Given the description of an element on the screen output the (x, y) to click on. 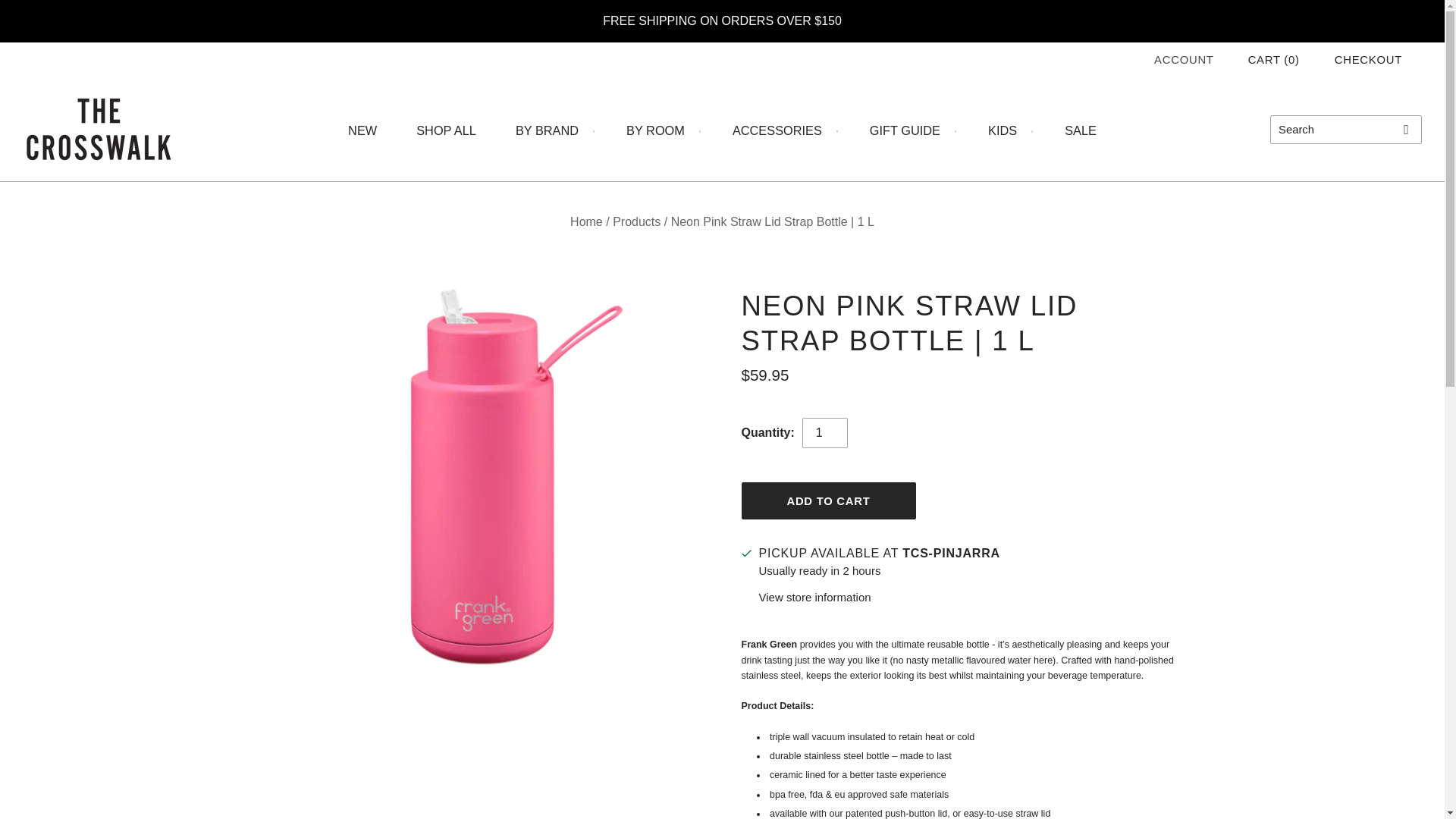
ACCOUNT (1184, 60)
1 (824, 432)
Add to cart (828, 500)
CHECKOUT (1368, 59)
SHOP ALL (446, 130)
NEW (362, 130)
